Given the description of an element on the screen output the (x, y) to click on. 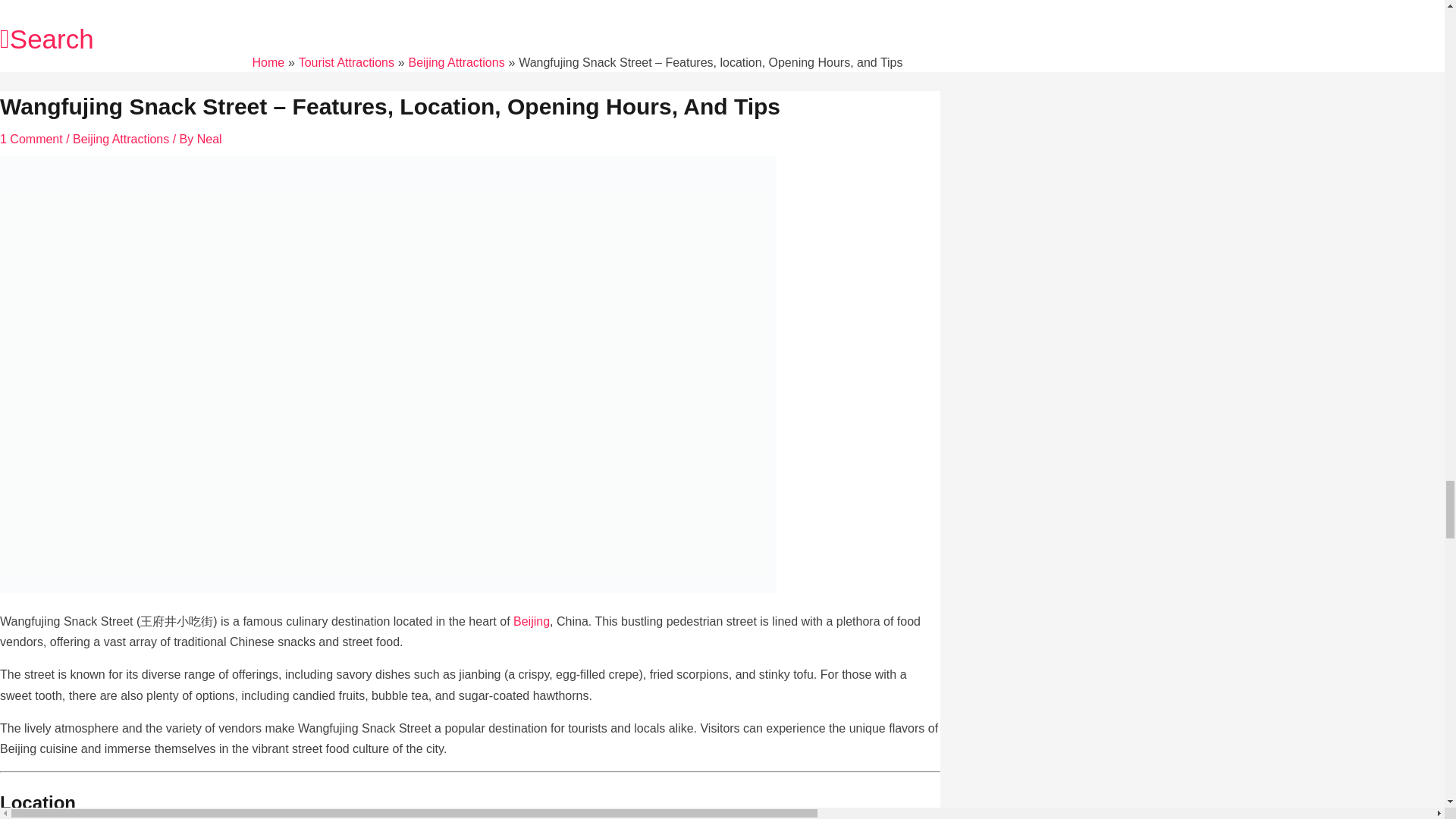
View all posts by Neal (209, 138)
